Given the description of an element on the screen output the (x, y) to click on. 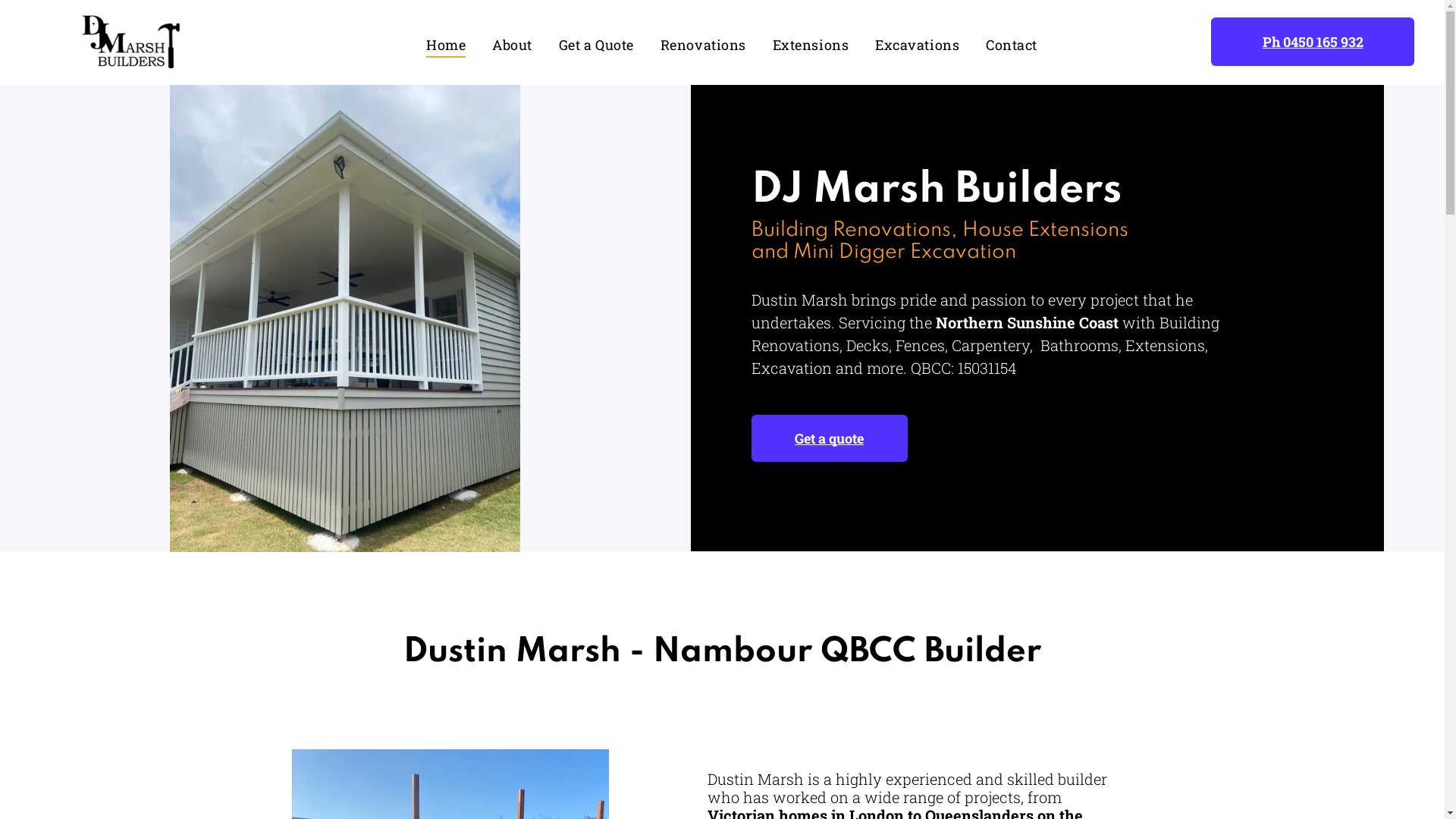
Home Element type: text (459, 44)
Contact Element type: text (1024, 44)
Ph 0450 165 932 Element type: text (1312, 41)
Excavation Element type: text (963, 251)
Extensions Element type: text (823, 44)
House Extensions Element type: text (1045, 229)
Building Renovations Element type: text (850, 229)
Renovations Element type: text (716, 44)
Get a quote Element type: text (829, 437)
About Element type: text (525, 44)
Excavations Element type: text (930, 44)
Get a Quote Element type: text (609, 44)
